Given the description of an element on the screen output the (x, y) to click on. 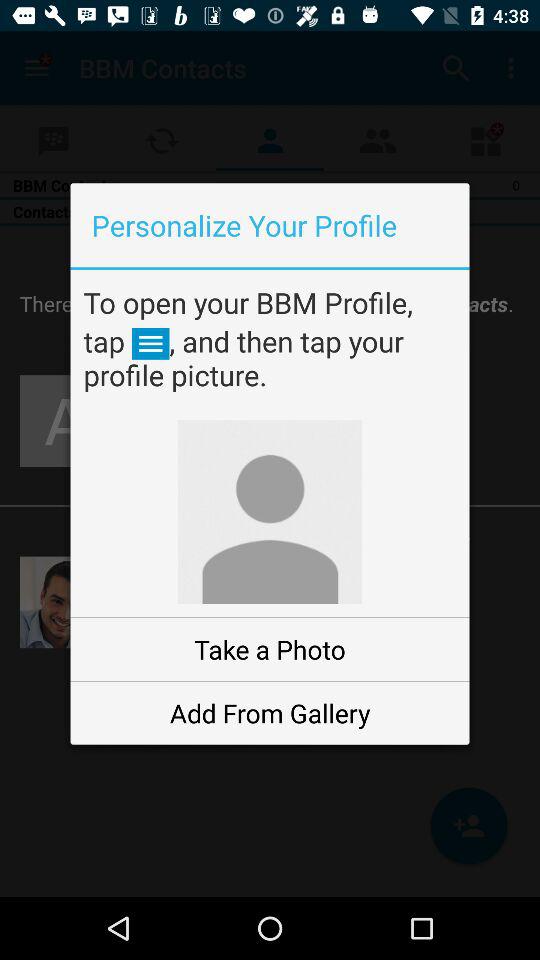
jump to take a photo item (269, 649)
